Given the description of an element on the screen output the (x, y) to click on. 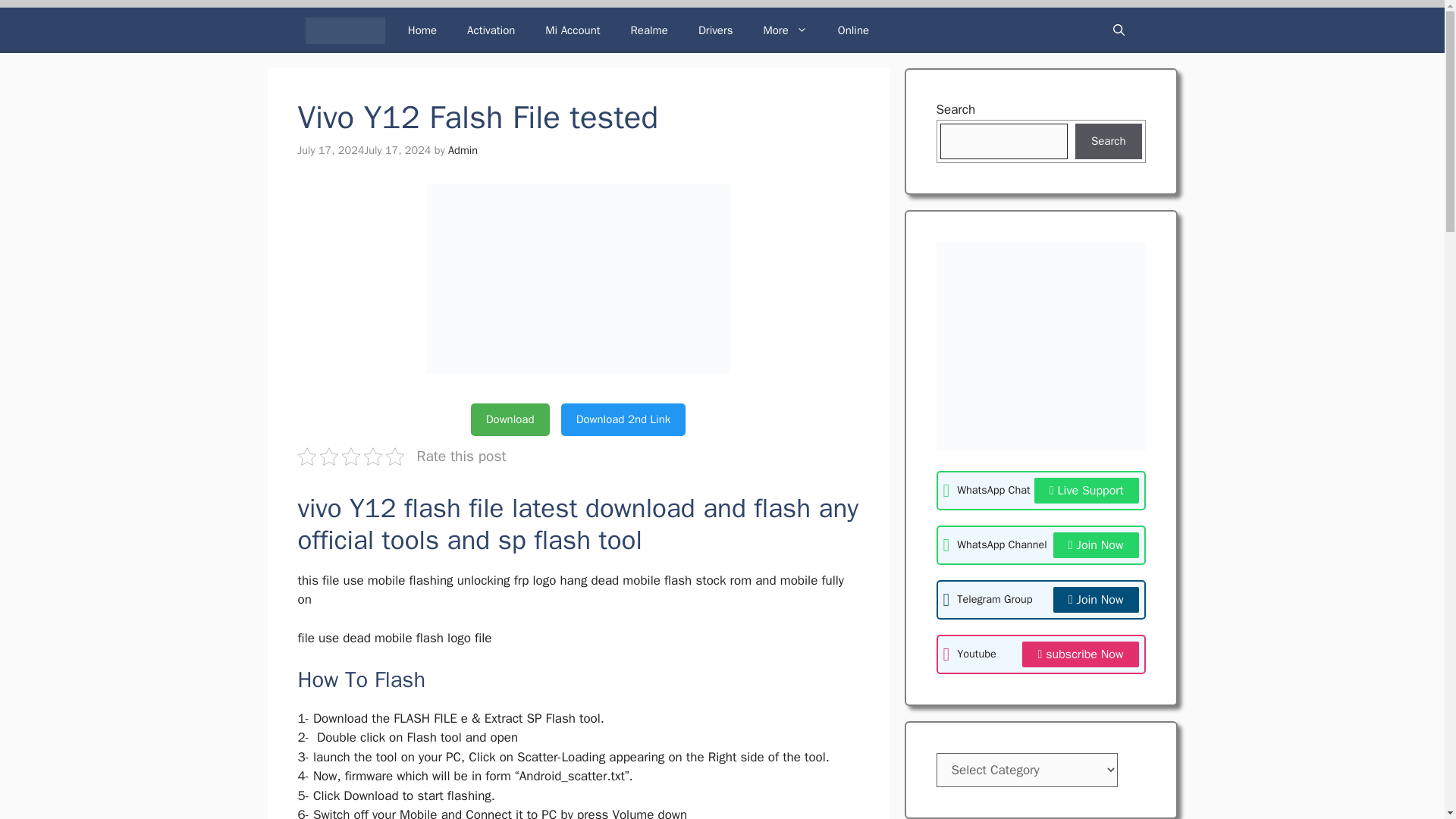
Mi Account (571, 30)
Download (510, 419)
GSMXR.COM (344, 29)
Drivers (715, 30)
Realme (648, 30)
Admin (462, 150)
Home (422, 30)
Activation (490, 30)
Download 2nd Link (622, 419)
View all posts by Admin (462, 150)
